Given the description of an element on the screen output the (x, y) to click on. 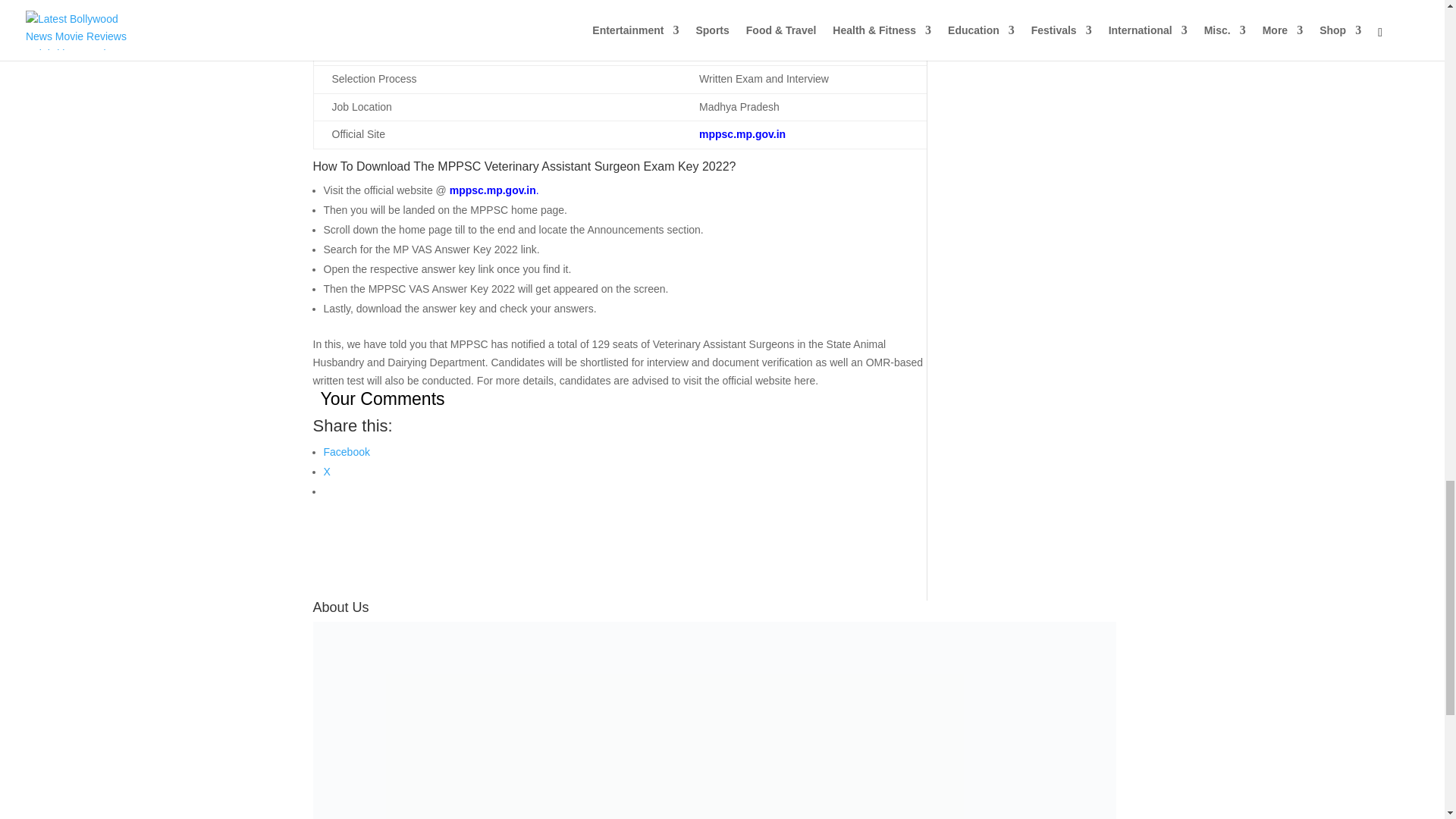
Click to share on Facebook (346, 451)
